Given the description of an element on the screen output the (x, y) to click on. 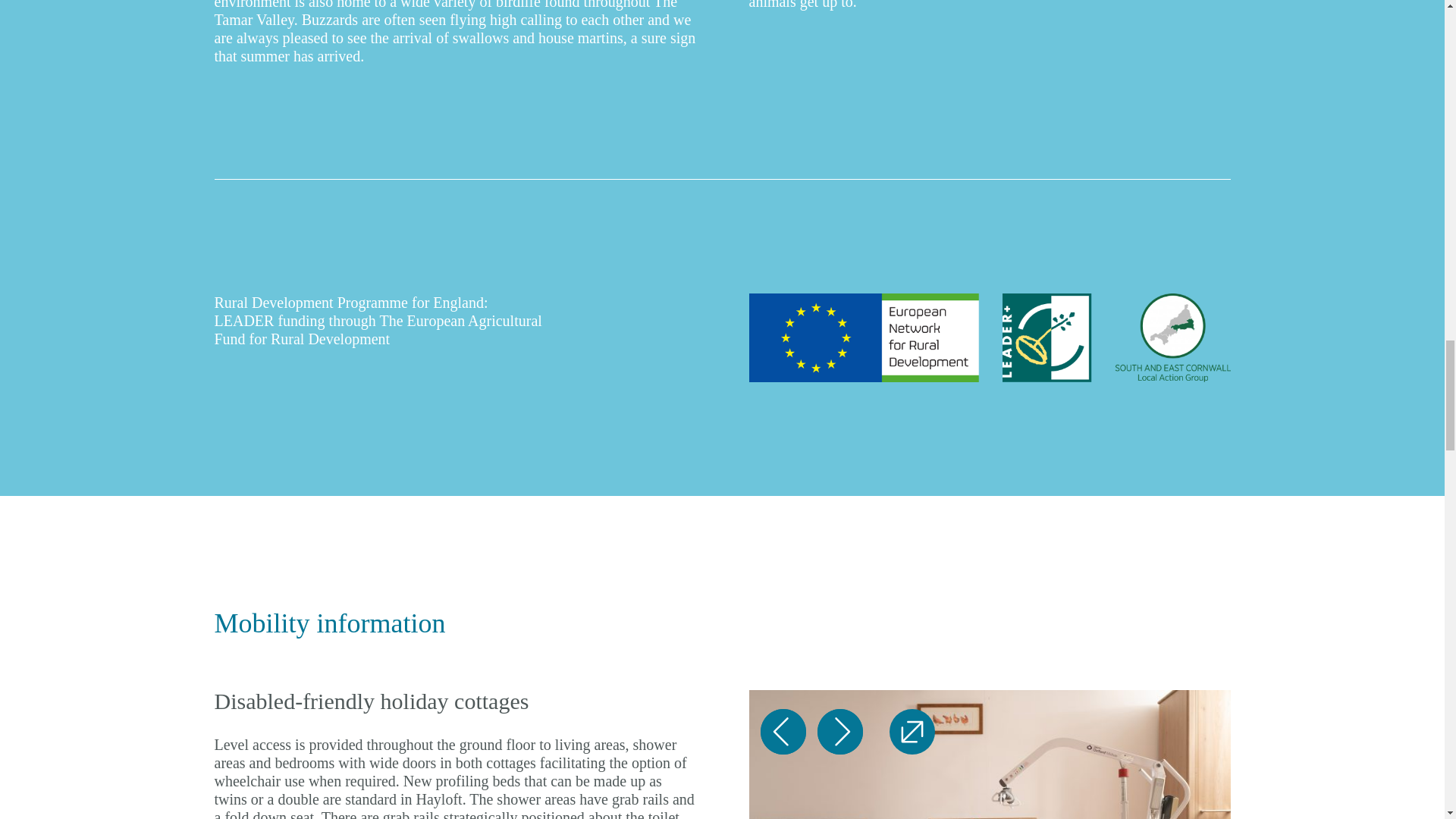
Mobility information (329, 623)
Previous (782, 731)
